Given the description of an element on the screen output the (x, y) to click on. 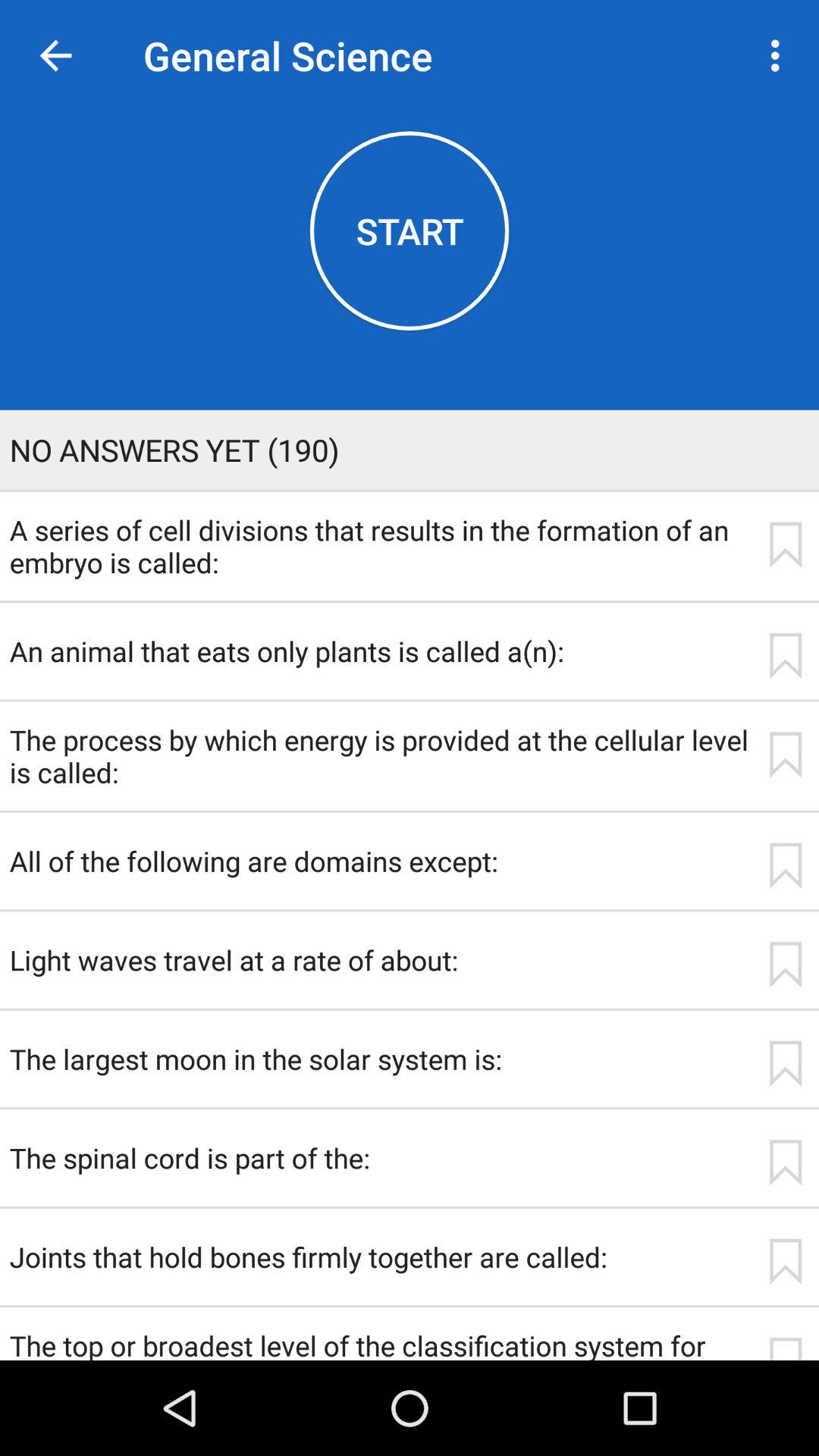
press the item next to the joints that hold app (784, 1261)
